Given the description of an element on the screen output the (x, y) to click on. 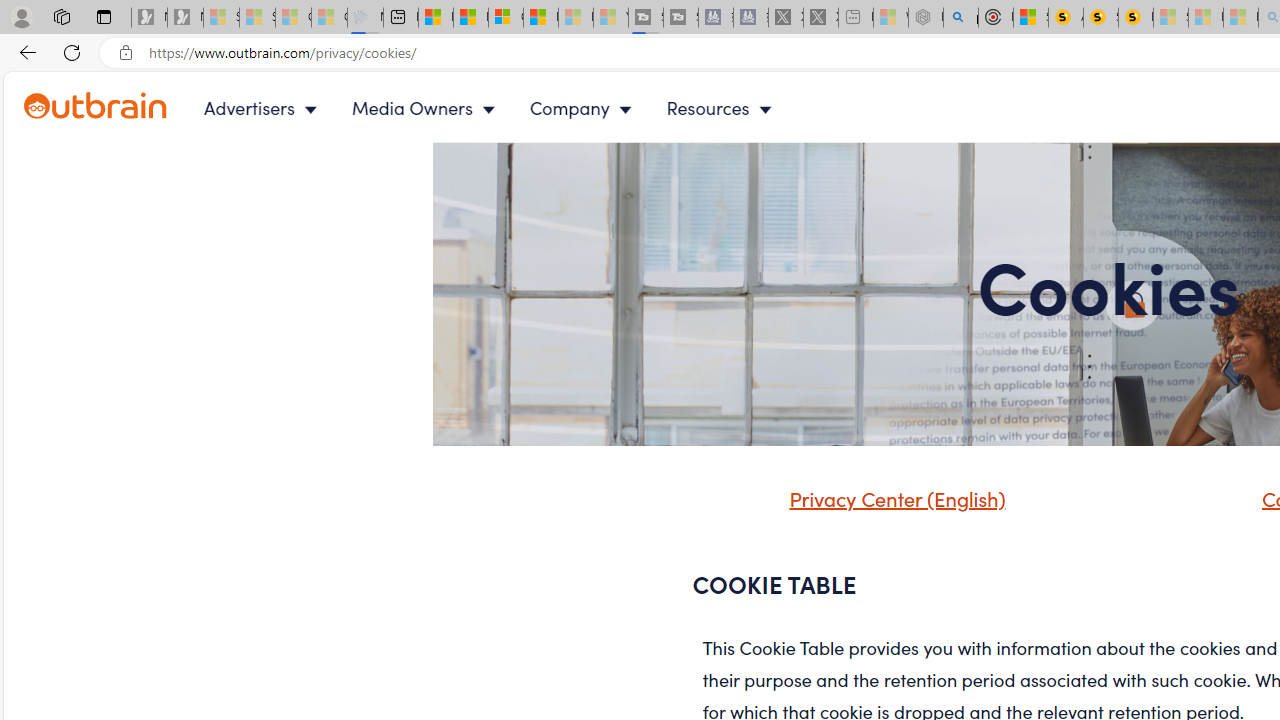
Skip navigation to go to main content (60, 83)
Nordace - Summer Adventures 2024 - Sleeping (925, 17)
Michelle Starr, Senior Journalist at ScienceAlert (1135, 17)
Microsoft Start - Sleeping (575, 17)
